Given the description of an element on the screen output the (x, y) to click on. 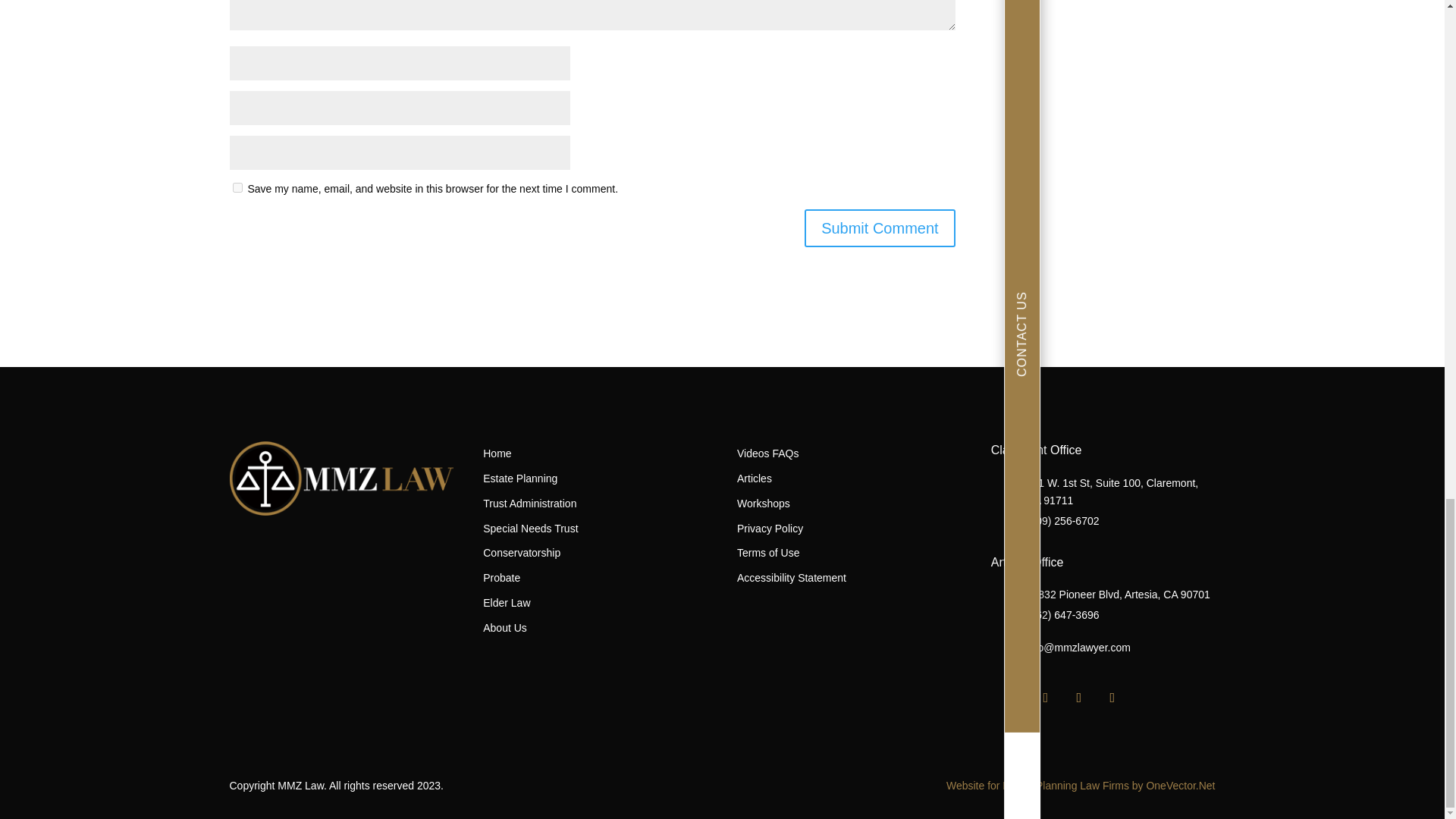
Submit Comment (880, 228)
mmz-logo (340, 478)
Follow on Instagram (1045, 697)
Follow on Facebook (1012, 697)
Follow on LinkedIn (1079, 697)
yes (236, 187)
Follow on Youtube (1112, 697)
